Given the description of an element on the screen output the (x, y) to click on. 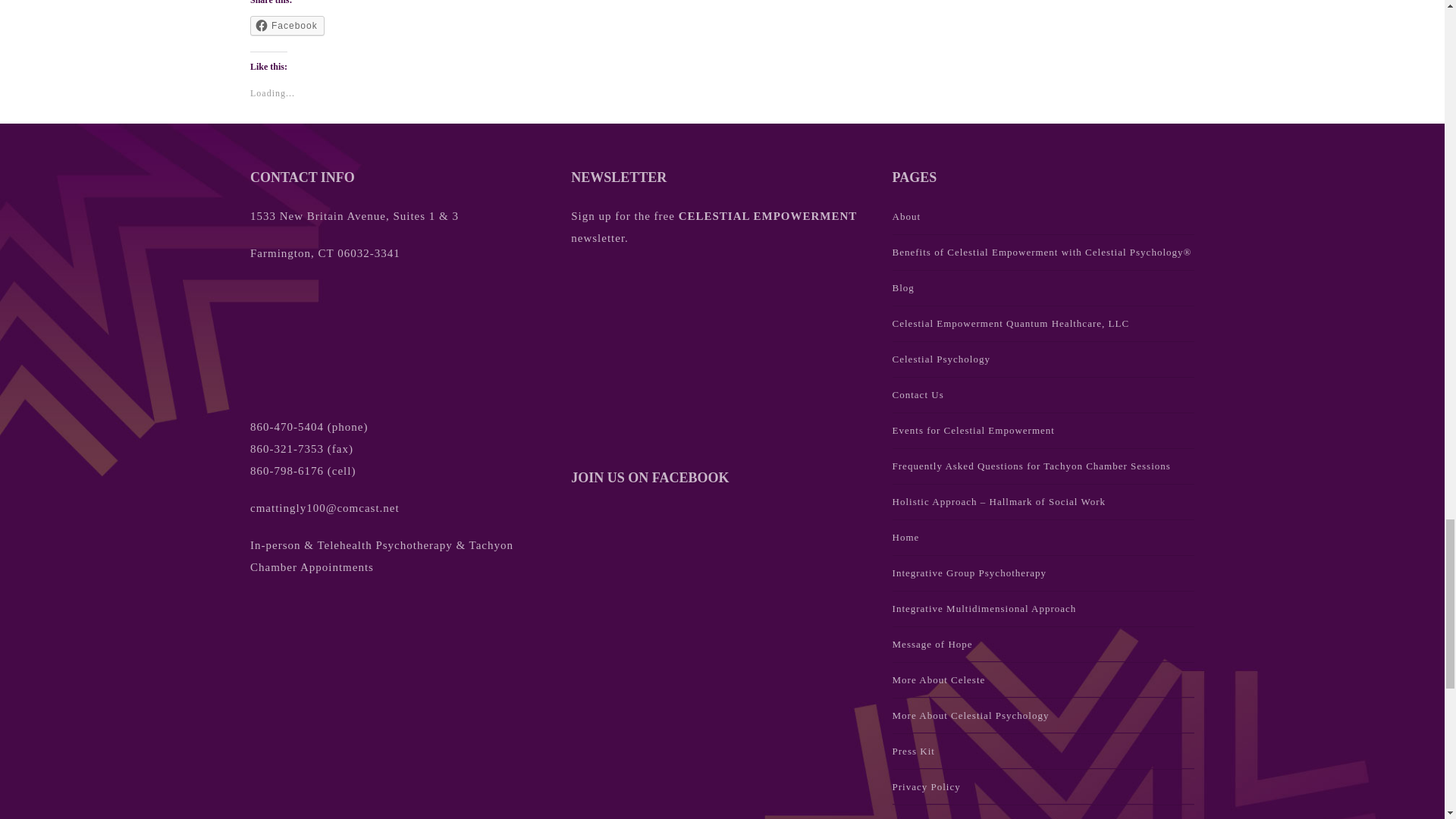
Click to share on Facebook (287, 25)
